Given the description of an element on the screen output the (x, y) to click on. 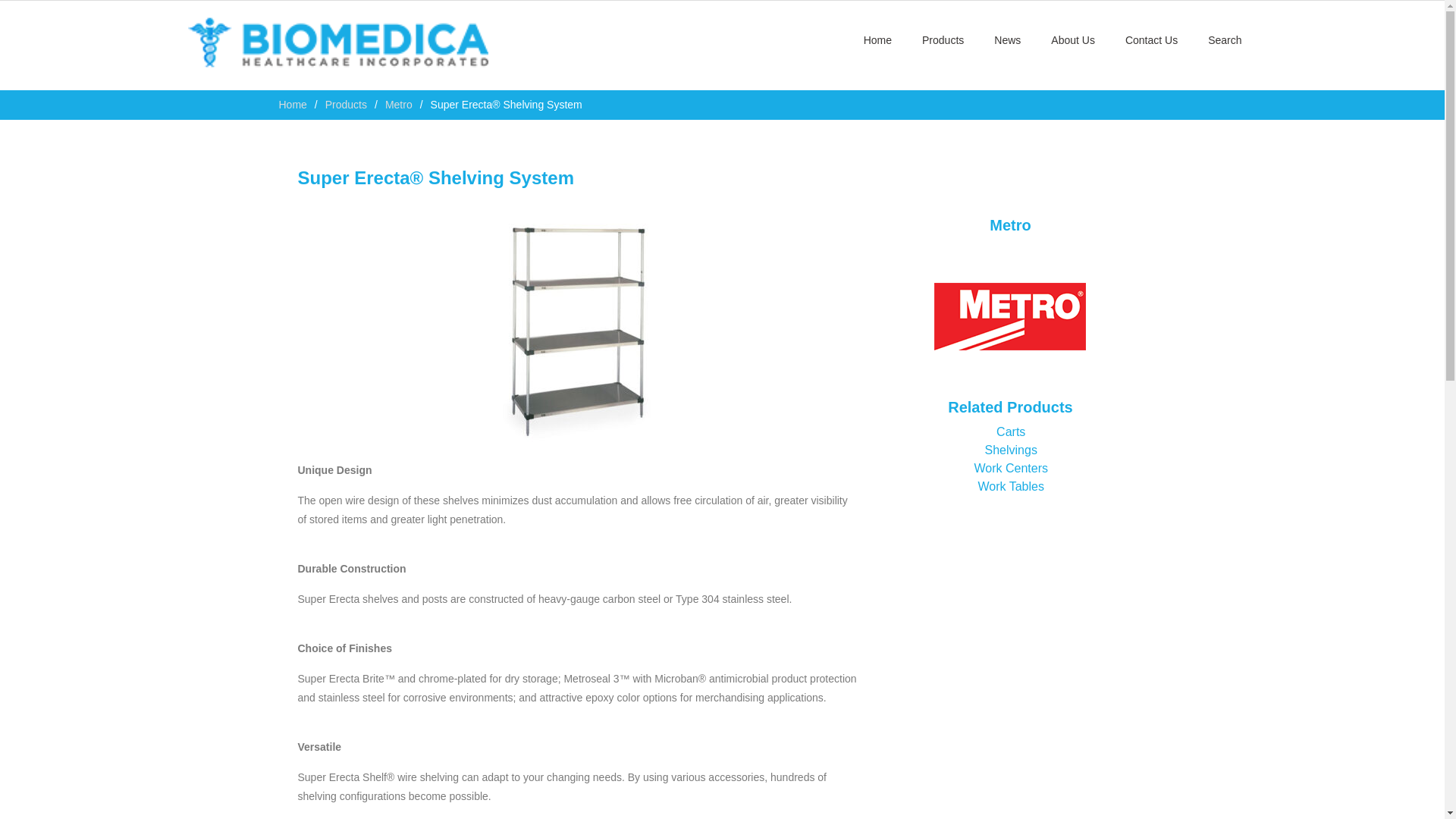
Contact Us (1150, 40)
News (1006, 40)
Search (1224, 40)
Carts (1010, 431)
Work Tables (1010, 486)
Products (942, 40)
Products (345, 104)
About Us (1072, 40)
Shelvings (1010, 449)
Work Centers (1011, 468)
